Given the description of an element on the screen output the (x, y) to click on. 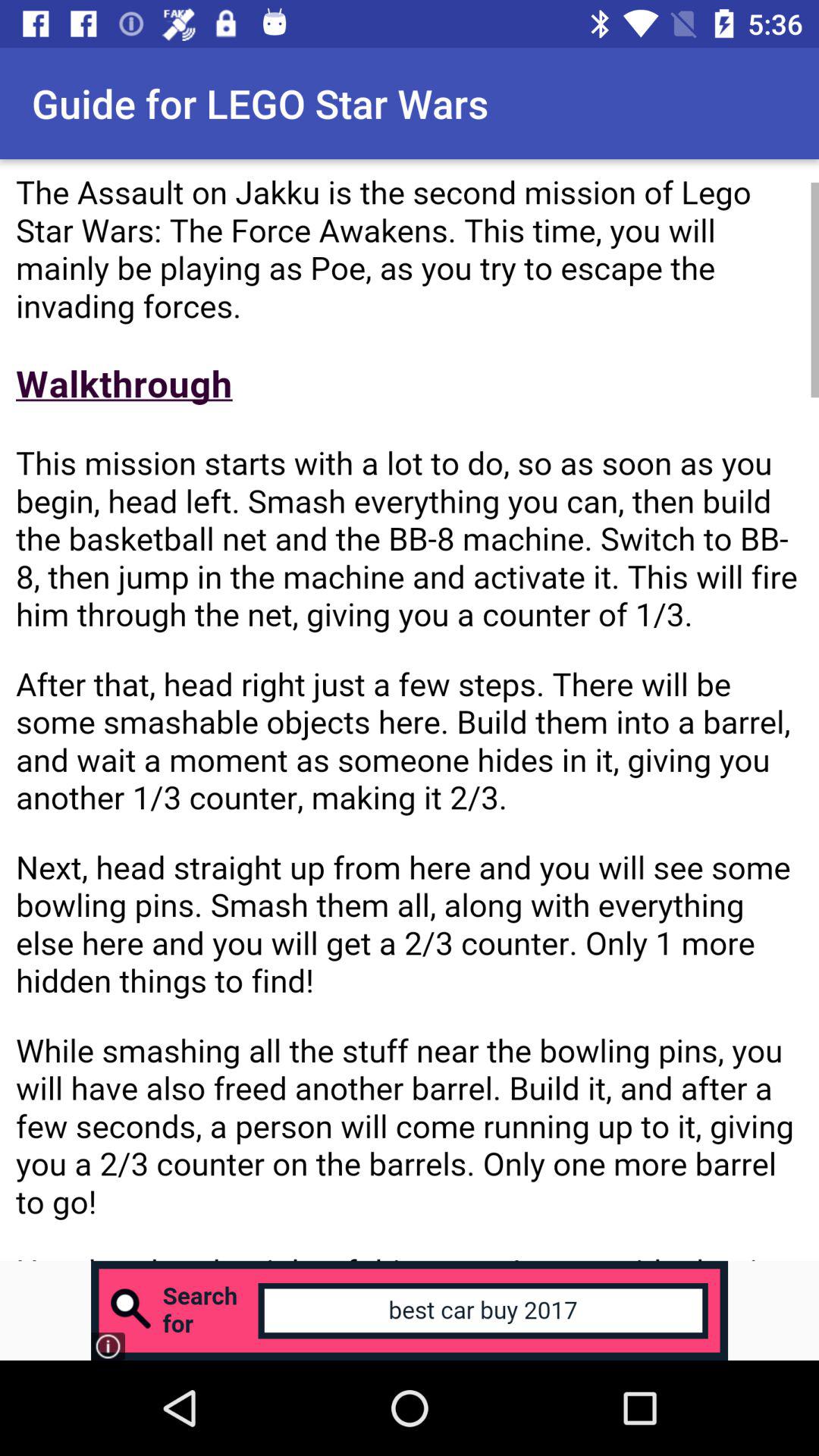
go to advertisement (409, 1310)
